Given the description of an element on the screen output the (x, y) to click on. 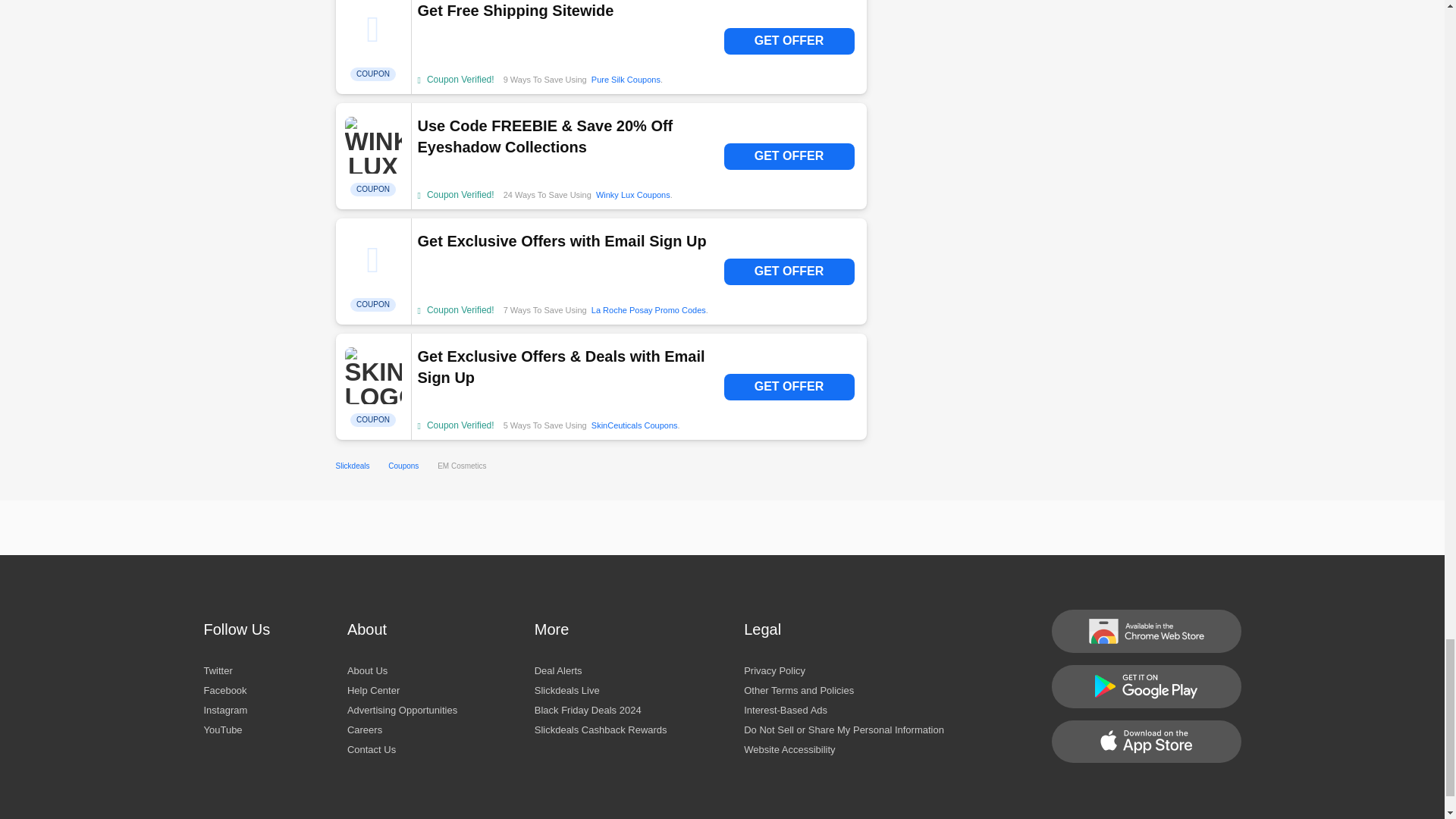
Install the Slickdeals Extension (1145, 630)
Install the Slickdeals iOS App (1145, 741)
Install the Slickdeals Android App (1145, 686)
